Given the description of an element on the screen output the (x, y) to click on. 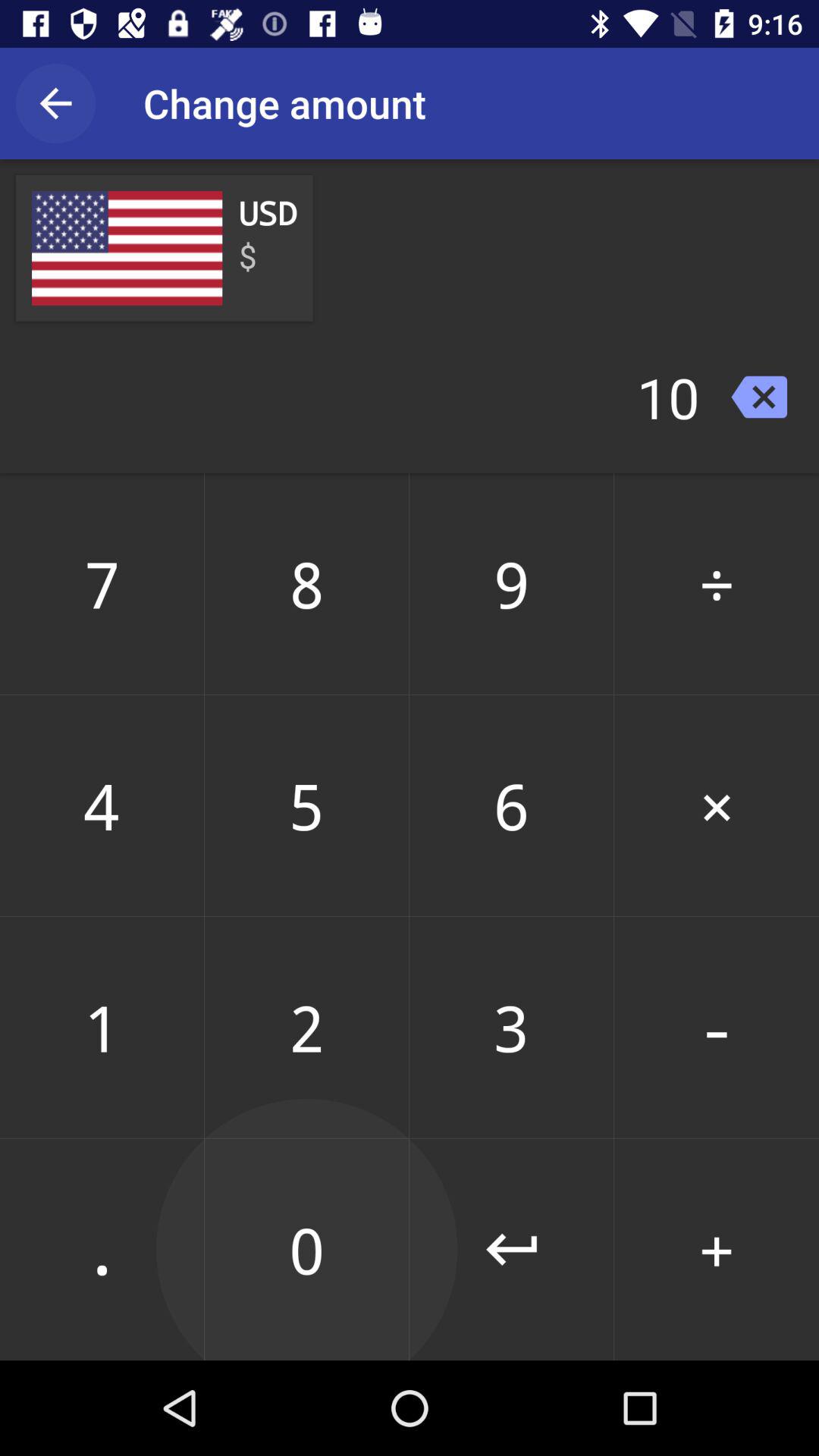
click 7 item (102, 583)
